Given the description of an element on the screen output the (x, y) to click on. 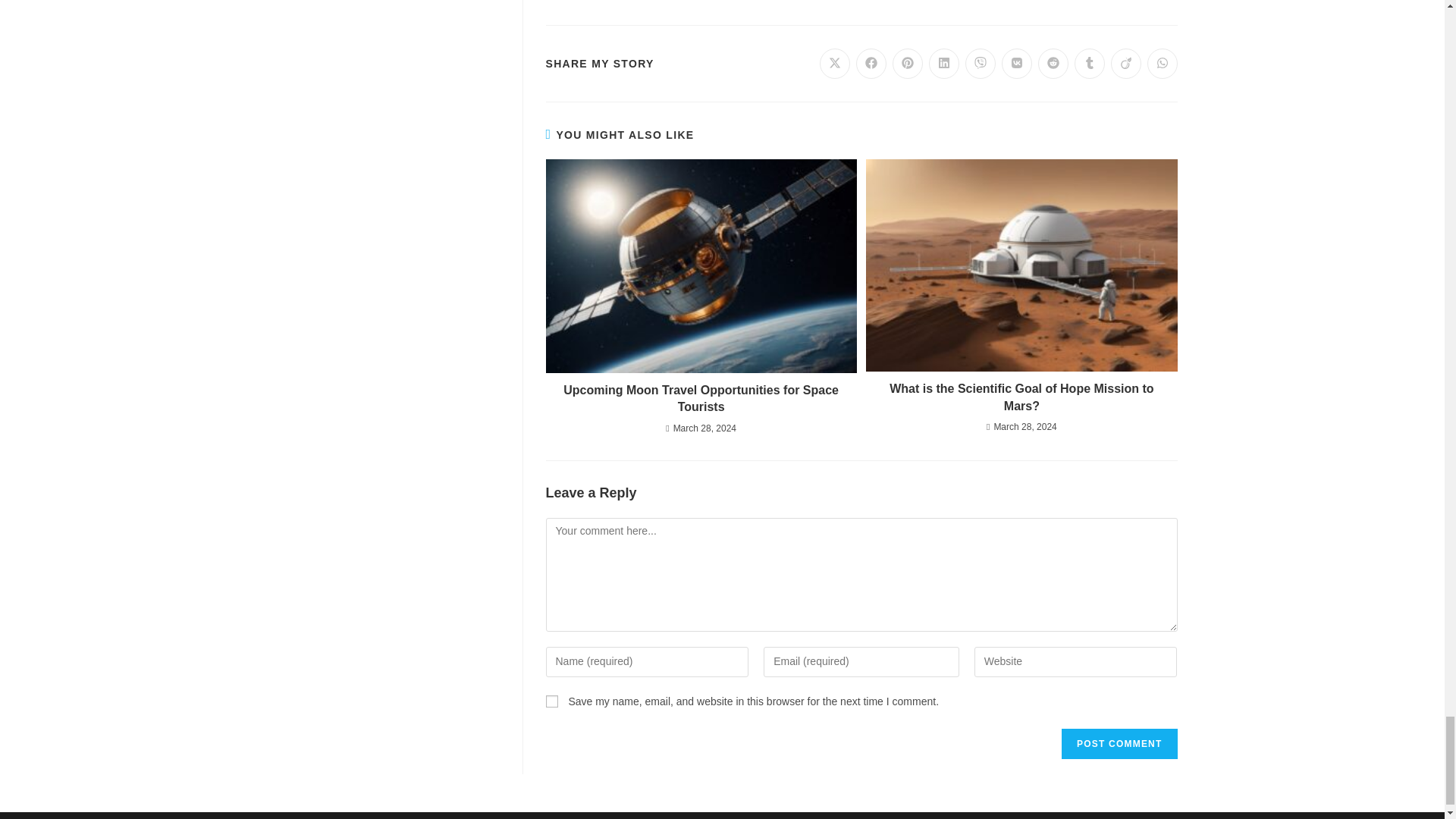
Post Comment (1118, 743)
yes (551, 701)
